Given the description of an element on the screen output the (x, y) to click on. 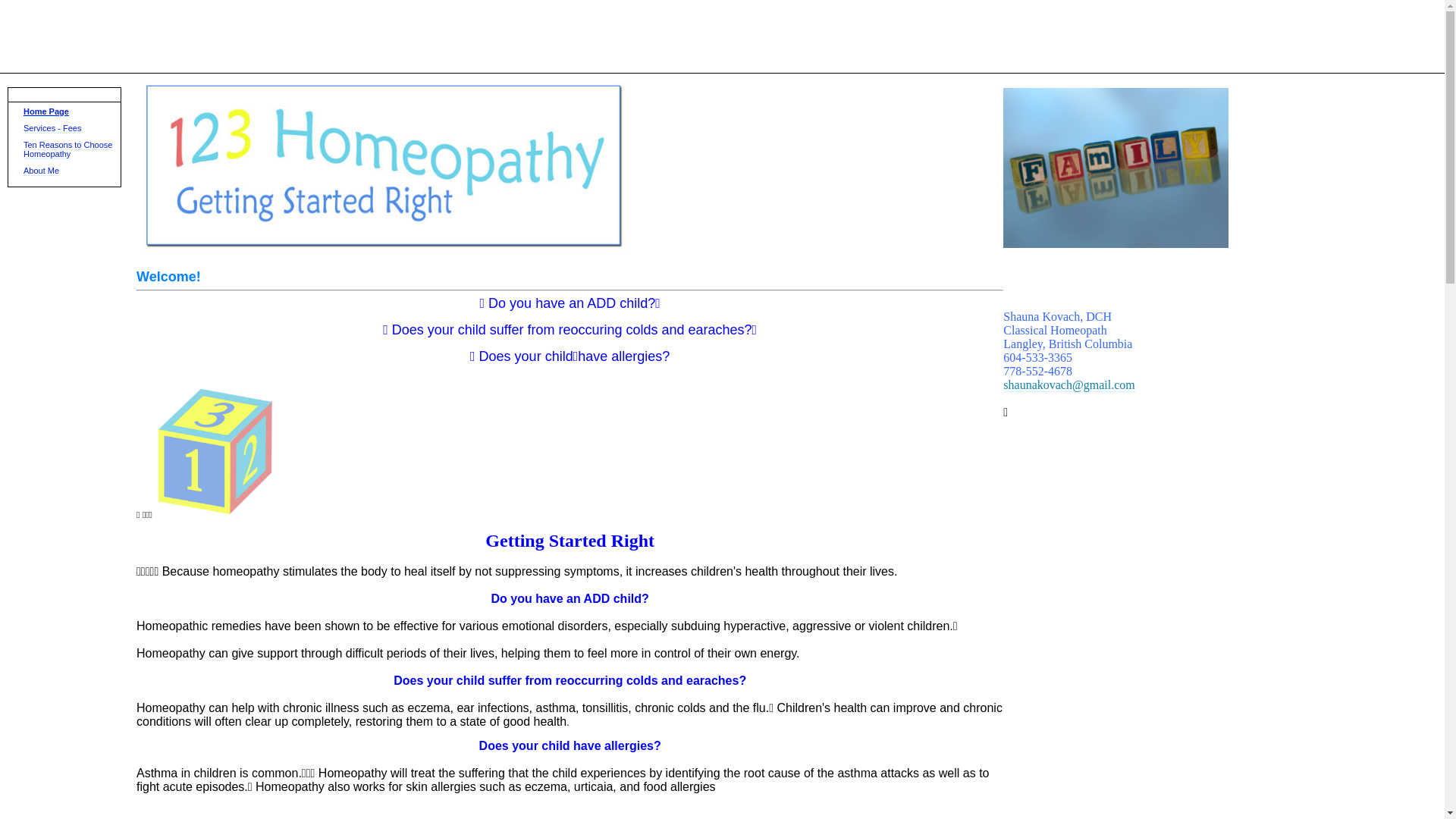
shaunakovach@gmail.com Element type: text (1068, 385)
Services - Fees Element type: text (52, 128)
Ten Reasons to Choose Homeopathy Element type: text (67, 149)
123Logo-web-6.jpg Element type: hover (382, 165)
123Block4crop.png Element type: hover (214, 451)
CLIP_02_childs_building_blocks_spelling_family.jpg Element type: hover (1115, 167)
About Me Element type: text (41, 170)
Home Page Element type: text (46, 111)
